Given the description of an element on the screen output the (x, y) to click on. 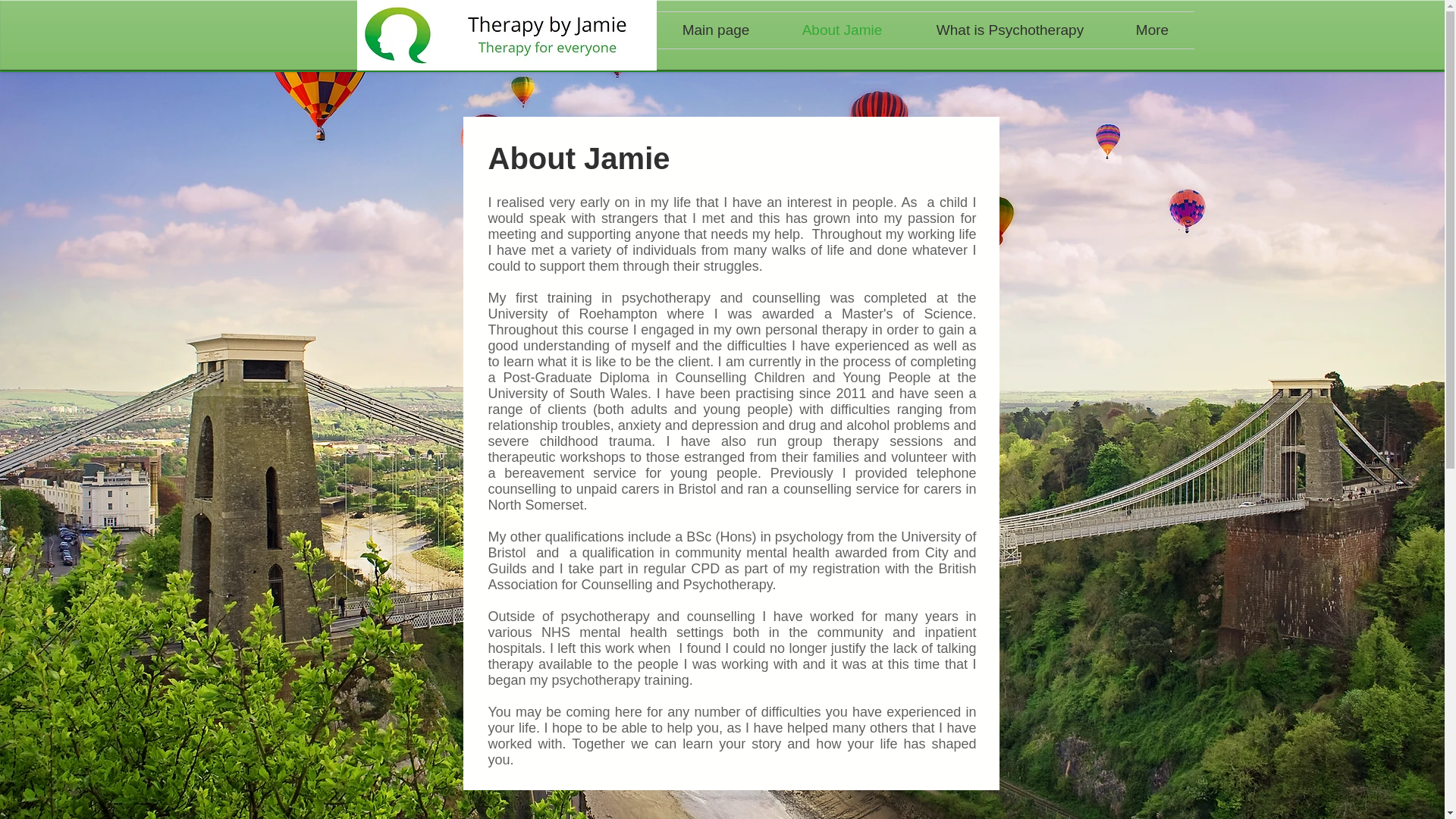
Main page (715, 30)
What is Psychotherapy (1010, 30)
About Jamie (842, 30)
Psychotherapist and counsellor based in Bristol, UK. (506, 35)
